Given the description of an element on the screen output the (x, y) to click on. 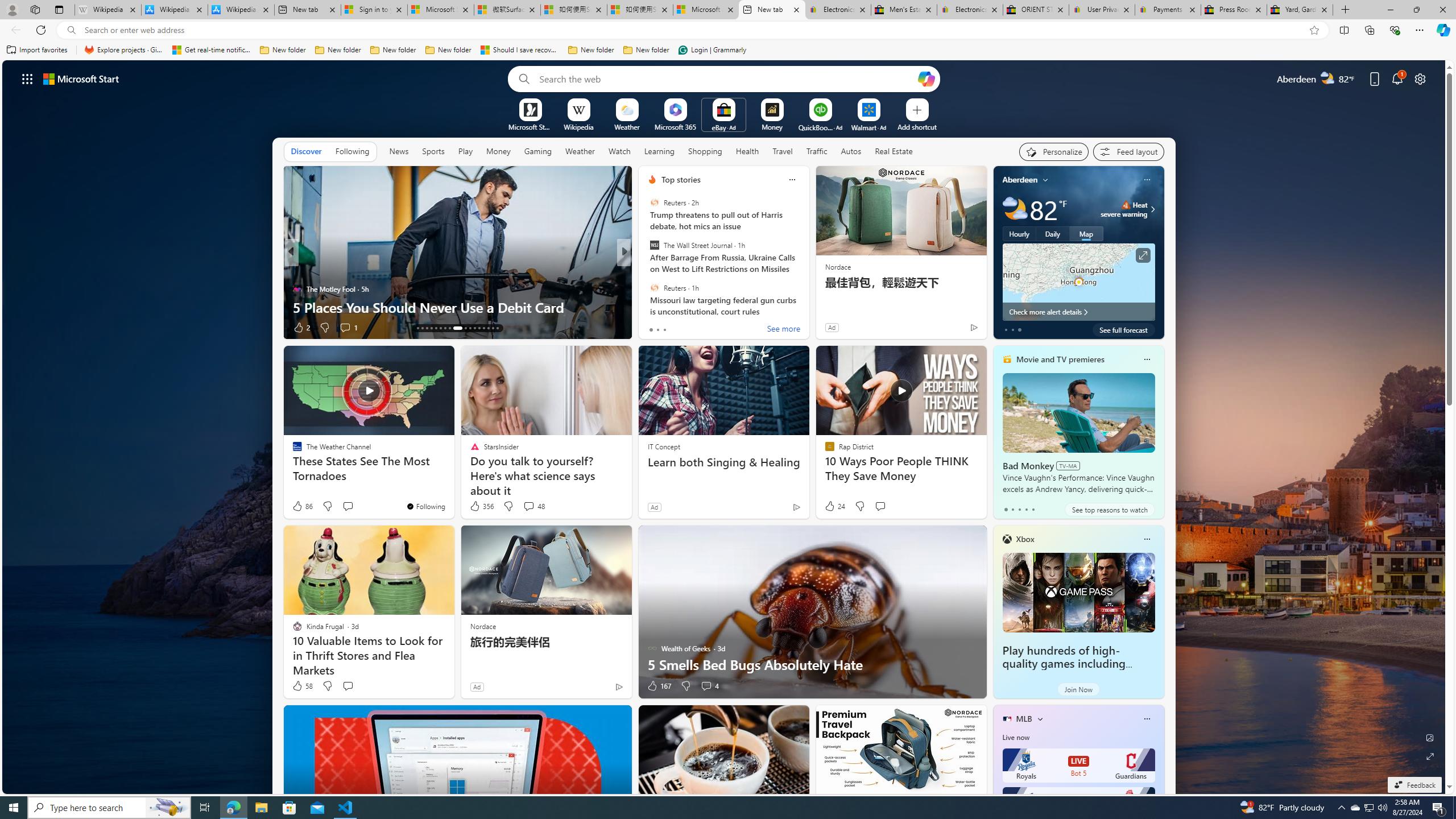
Feed settings (1128, 151)
Electronics, Cars, Fashion, Collectibles & More | eBay (969, 9)
Sign in to your Microsoft account (374, 9)
AutomationID: tab-13 (417, 328)
Simply More Time (296, 270)
Movie and TV premieres (1060, 359)
User Privacy Notice | eBay (1102, 9)
AutomationID: tab-19 (444, 328)
Watch (619, 151)
New folder (646, 49)
News (398, 151)
